Given the description of an element on the screen output the (x, y) to click on. 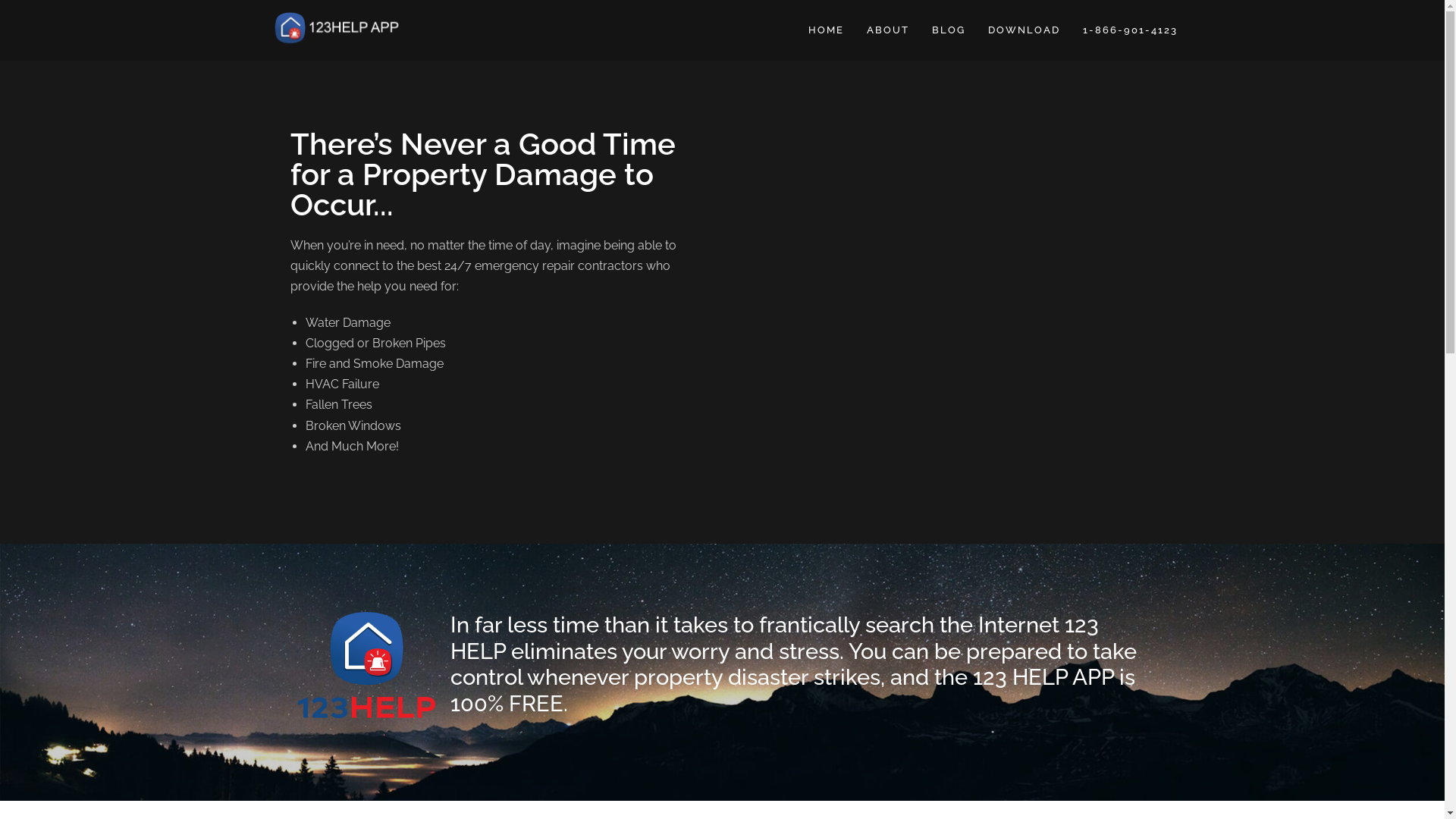
BLOG Element type: text (948, 30)
ABOUT Element type: text (887, 30)
HOME Element type: text (825, 30)
DOWNLOAD Element type: text (1023, 30)
1-866-901-4123 Element type: text (1129, 30)
